Given the description of an element on the screen output the (x, y) to click on. 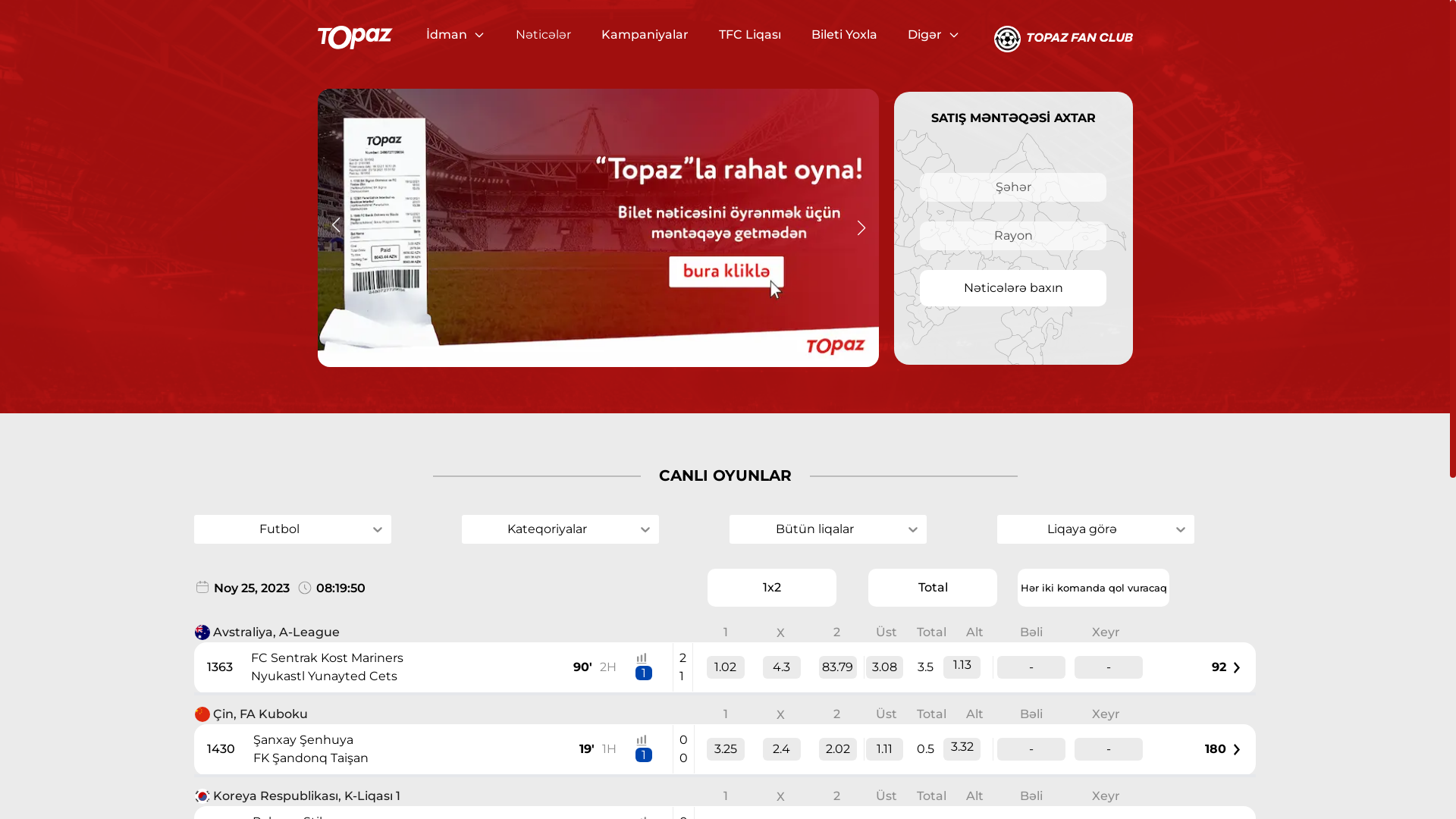
KOR Element type: hover (202, 795)
AUS Element type: hover (202, 632)
CHN Element type: hover (202, 713)
